Given the description of an element on the screen output the (x, y) to click on. 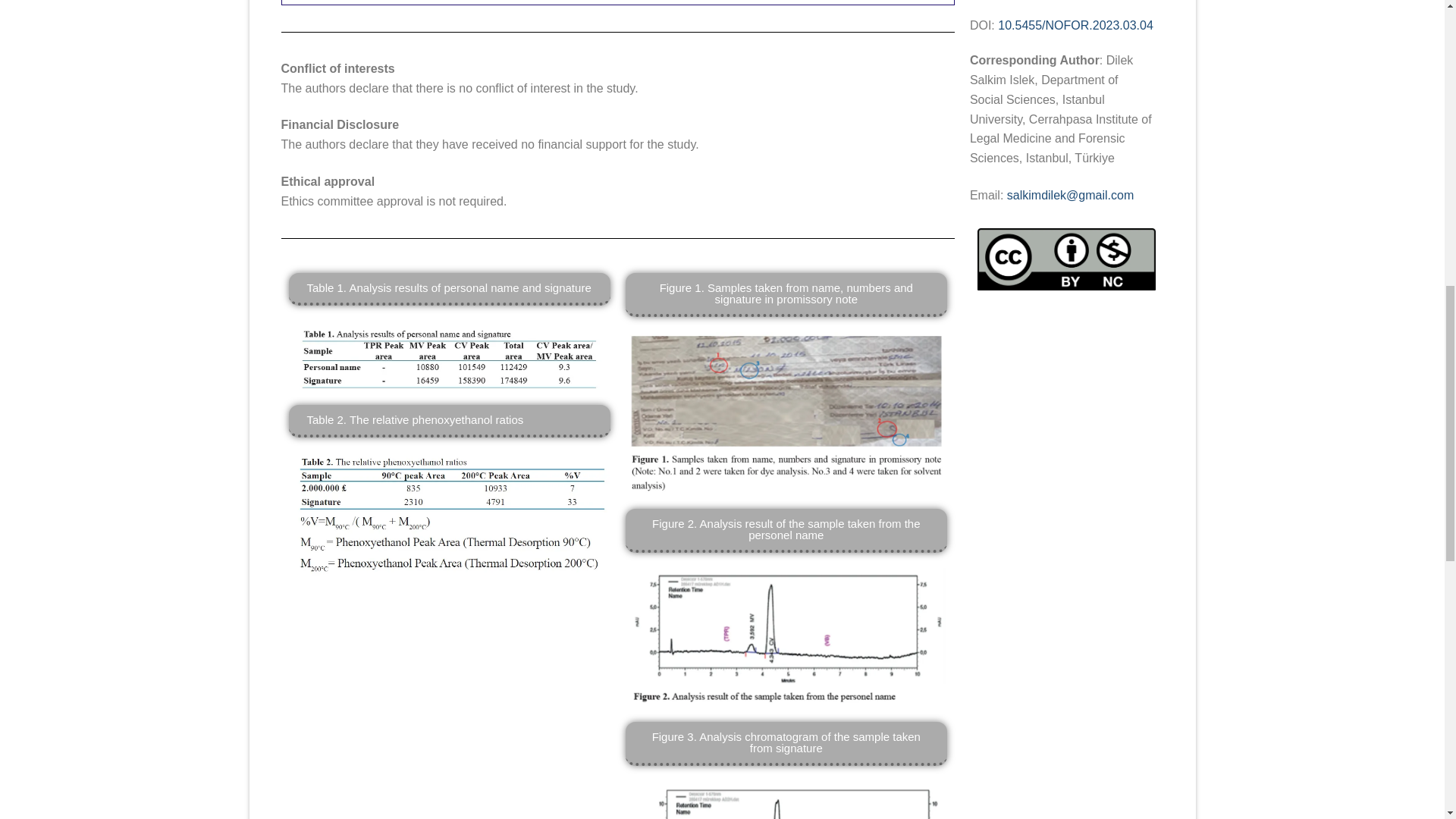
Table 2. The relative phenoxyethanol ratios (414, 419)
Table 1. Analysis results of personal name and signature (448, 287)
